Given the description of an element on the screen output the (x, y) to click on. 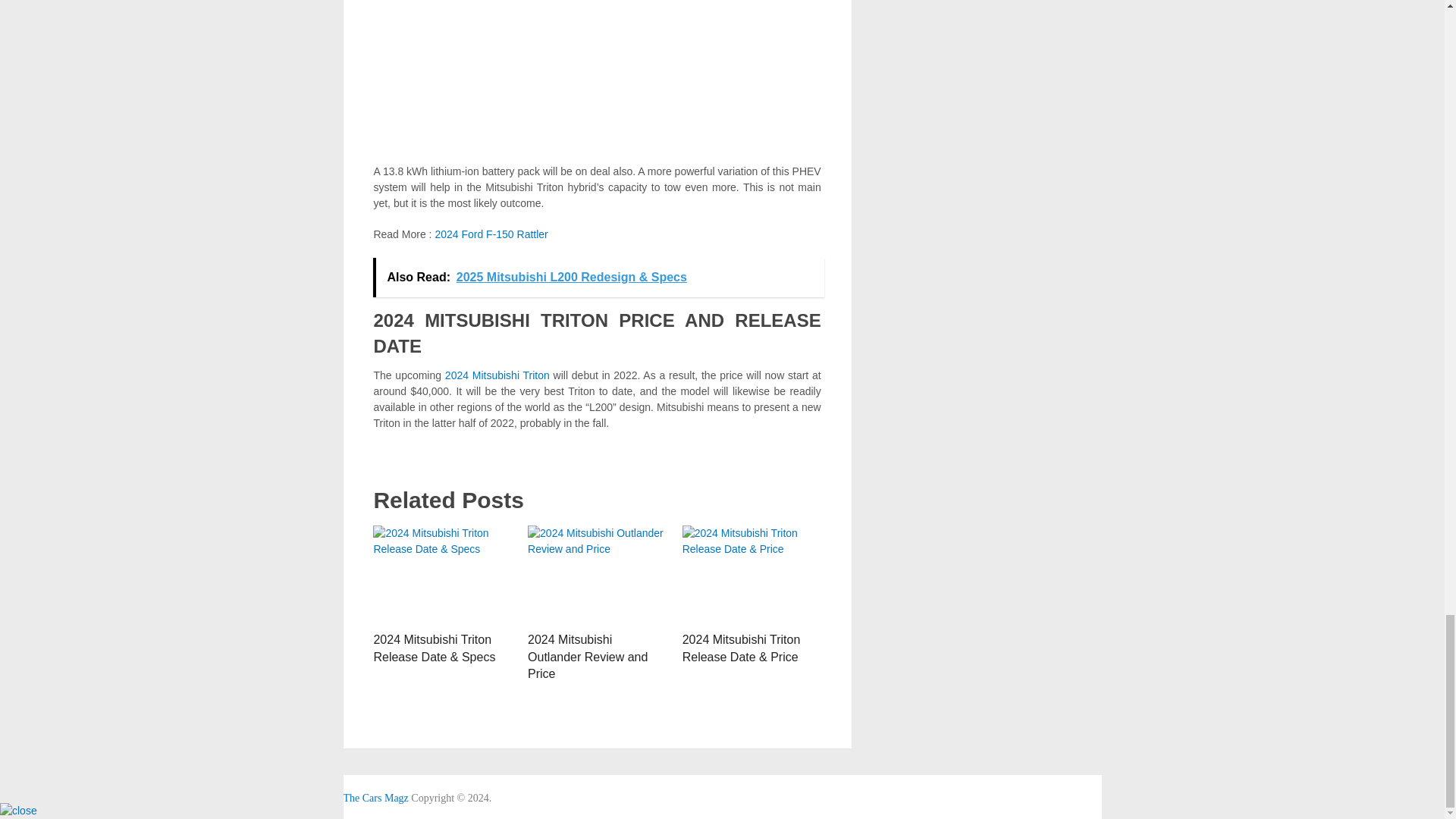
2024 Mitsubishi Outlander Review and Price (587, 656)
2024 Mitsubishi Triton (497, 375)
2024 Mitsubishi Outlander Review and Price (587, 656)
The Cars Magz (374, 797)
2024 Mitsubishi Outlander Review and Price (596, 574)
2024 Ford F-150 Rattler (490, 234)
